Given the description of an element on the screen output the (x, y) to click on. 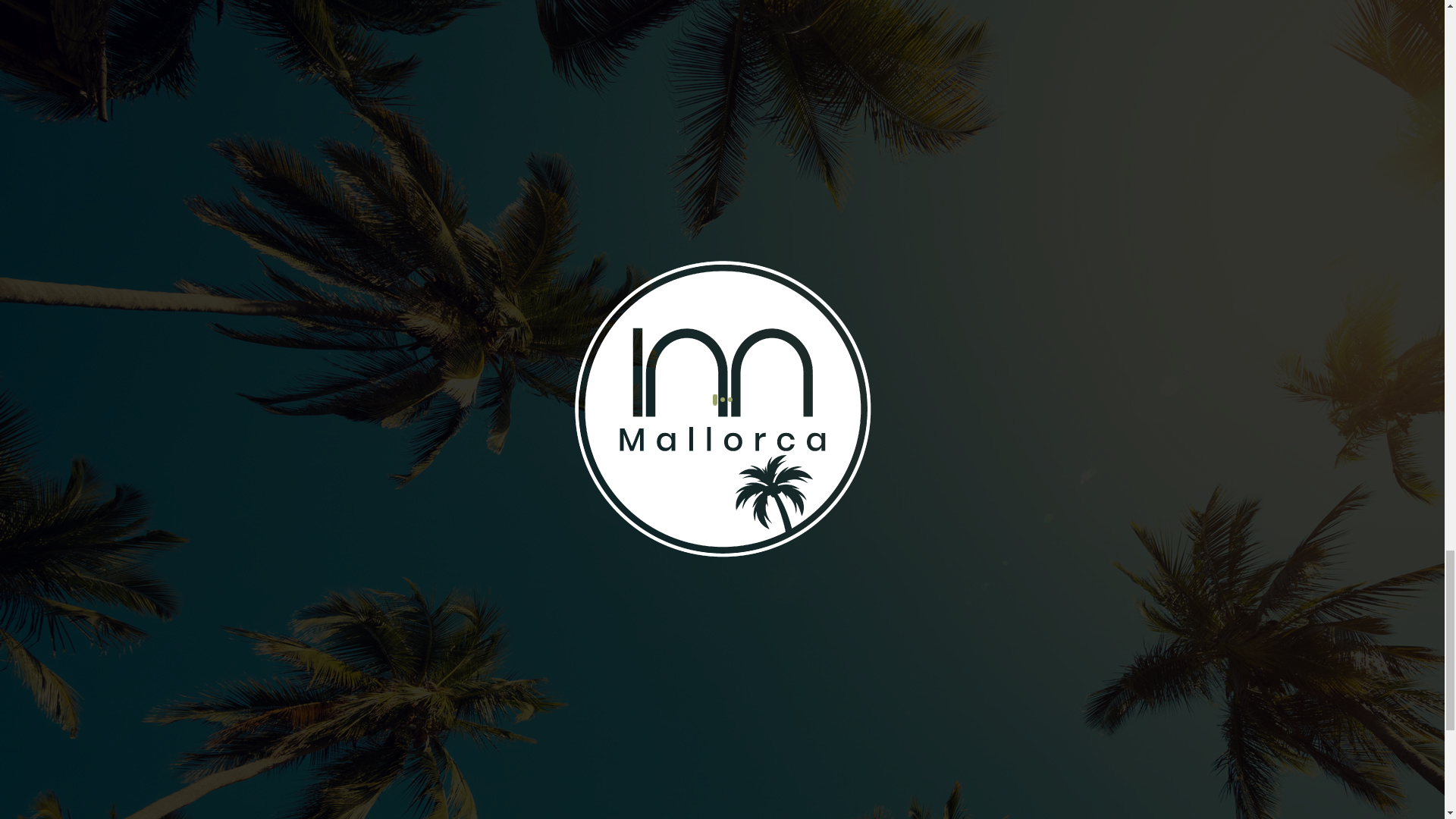
Next (1157, 661)
Previous (1143, 661)
Google Review (678, 478)
